Given the description of an element on the screen output the (x, y) to click on. 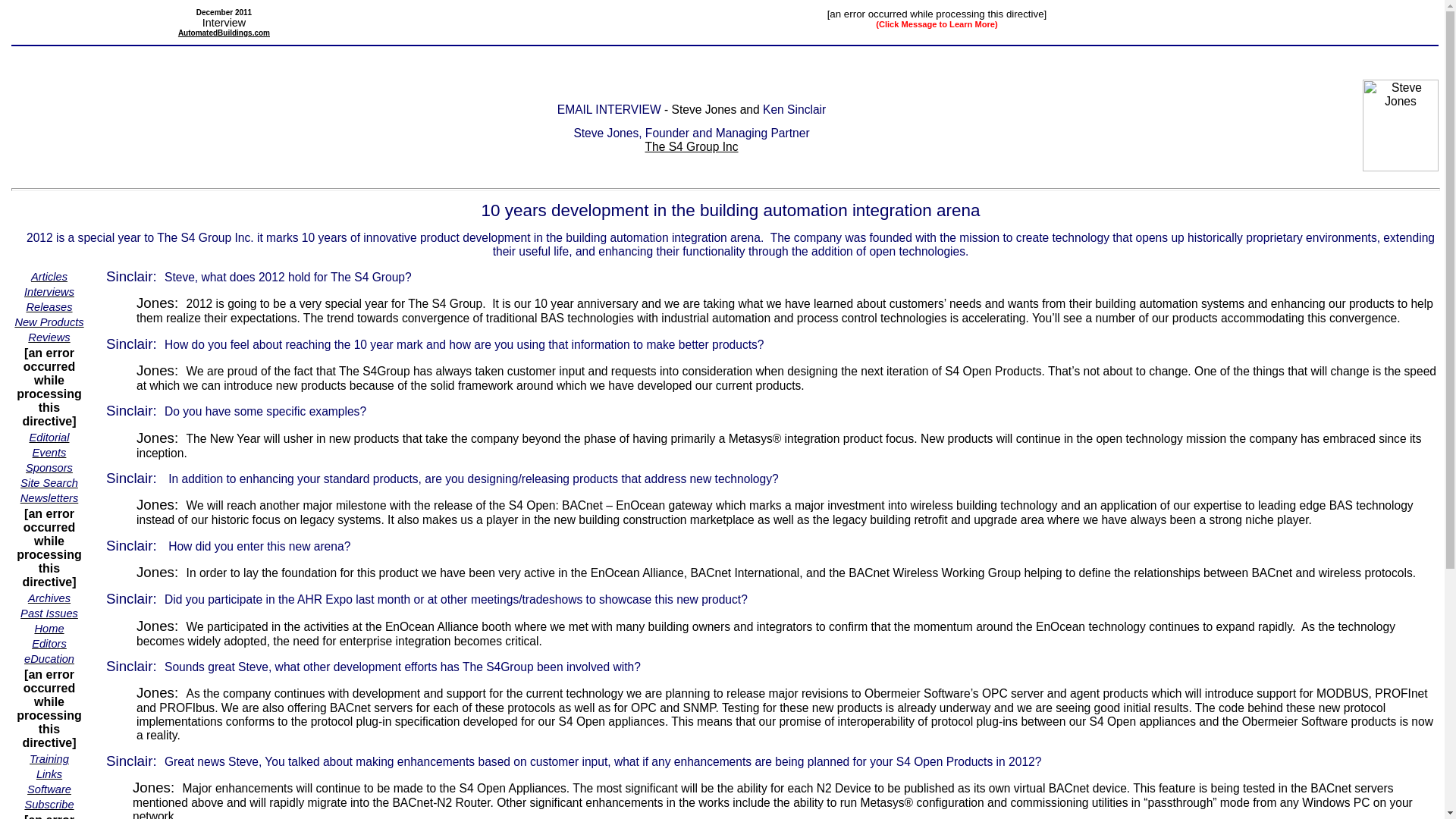
Training (48, 758)
Archives (48, 597)
Editors (49, 643)
Editorial (49, 436)
Newsletters (49, 497)
Interviews (49, 291)
eDucation (49, 658)
Links (49, 773)
Past Issues (49, 612)
Site Search (49, 481)
